Given the description of an element on the screen output the (x, y) to click on. 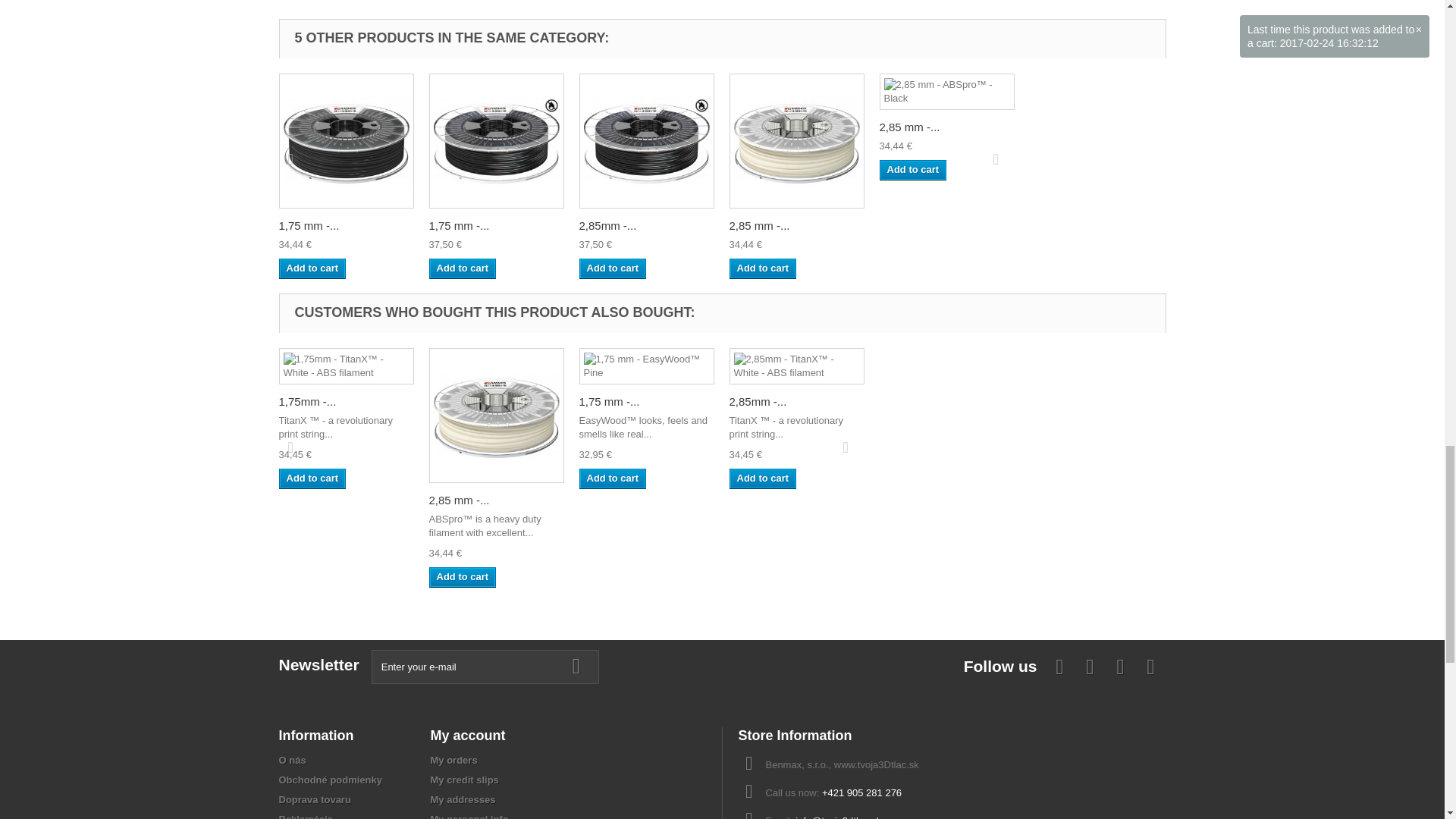
1,75 mm -... (309, 225)
Enter your e-mail (484, 666)
